Given the description of an element on the screen output the (x, y) to click on. 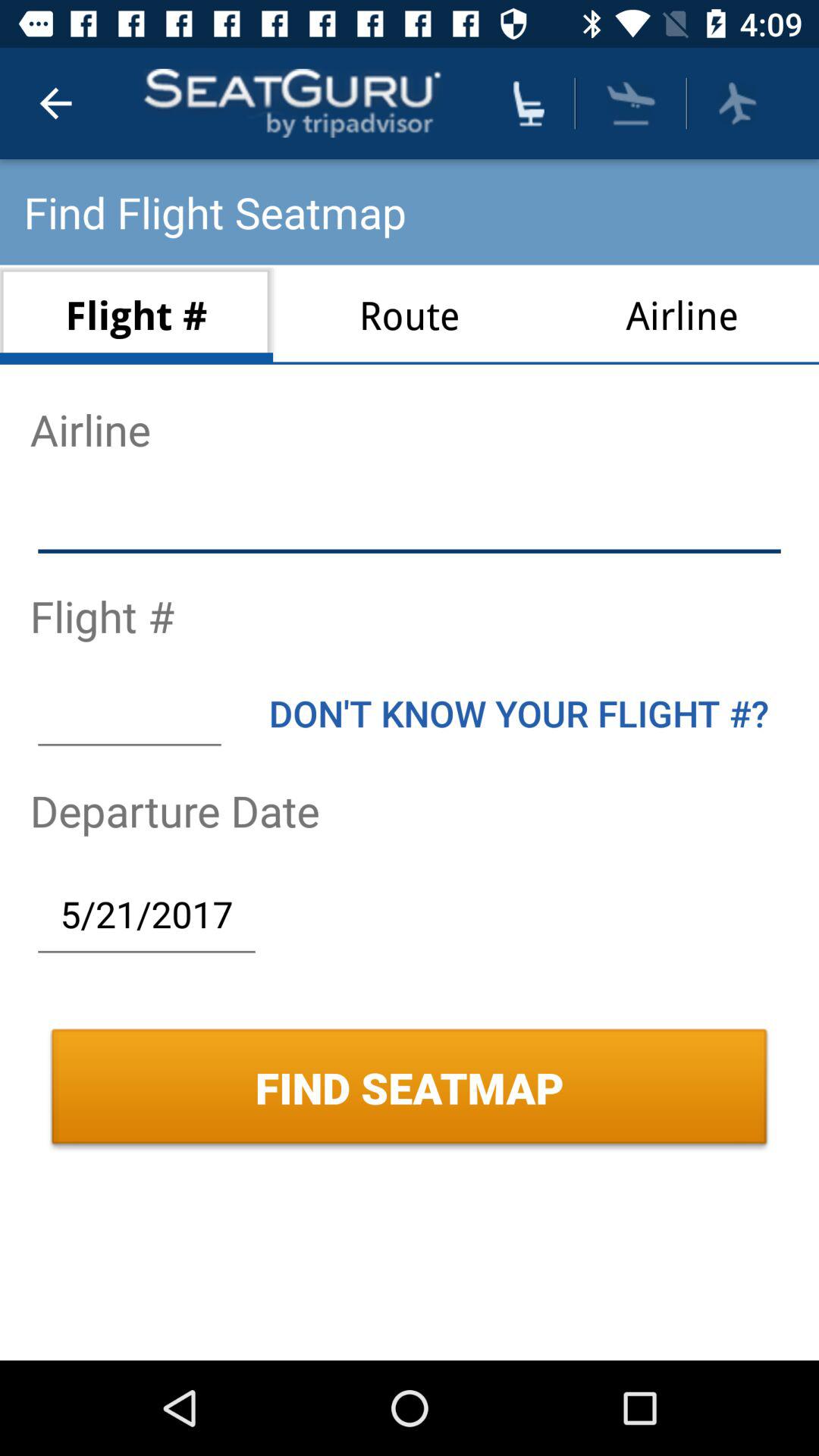
tap icon above departure date icon (518, 712)
